Given the description of an element on the screen output the (x, y) to click on. 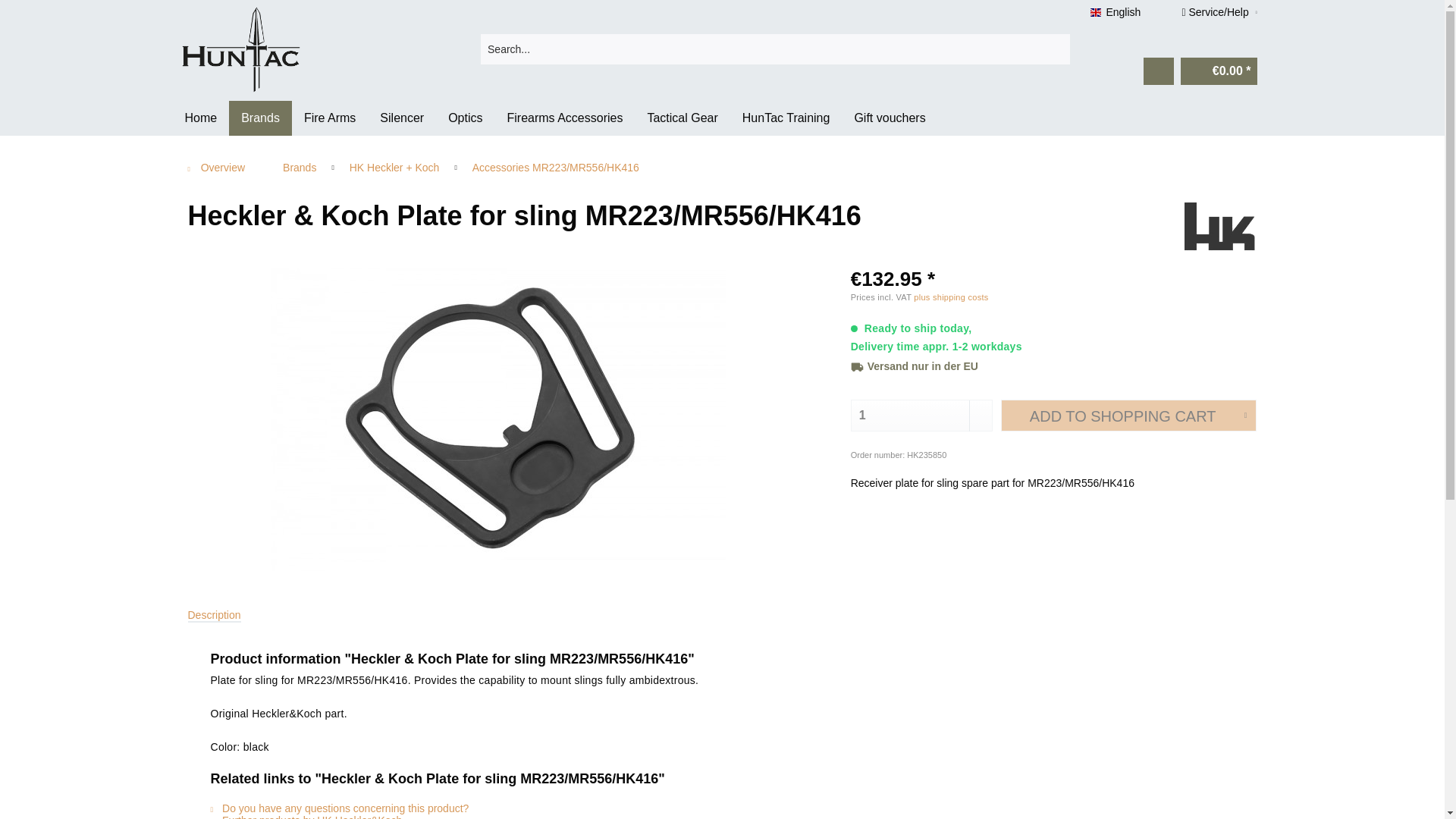
Tactical Gear (681, 117)
Gift vouchers (889, 117)
Fire Arms (330, 117)
HunTac Training (786, 117)
Optics (465, 117)
Silencer (401, 117)
My account (1157, 71)
Shopping cart (1218, 71)
Home (201, 117)
Firearms Accessories (564, 117)
Brands (260, 117)
